Given the description of an element on the screen output the (x, y) to click on. 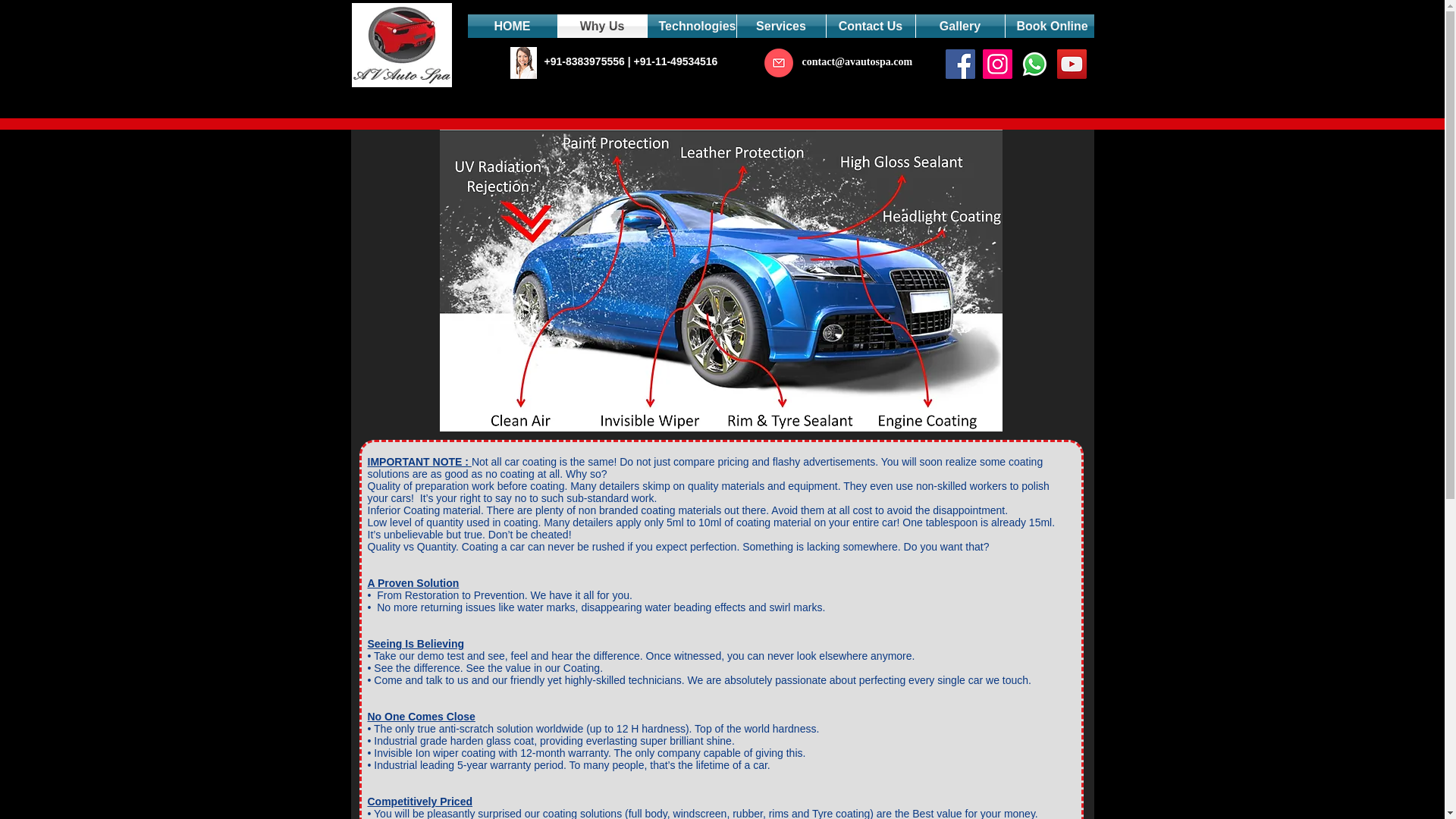
HOME (511, 25)
Book Online (1050, 25)
Why Us (601, 25)
Gallery (959, 25)
Contact Us (871, 25)
Technologies (691, 25)
Services (780, 25)
